Given the description of an element on the screen output the (x, y) to click on. 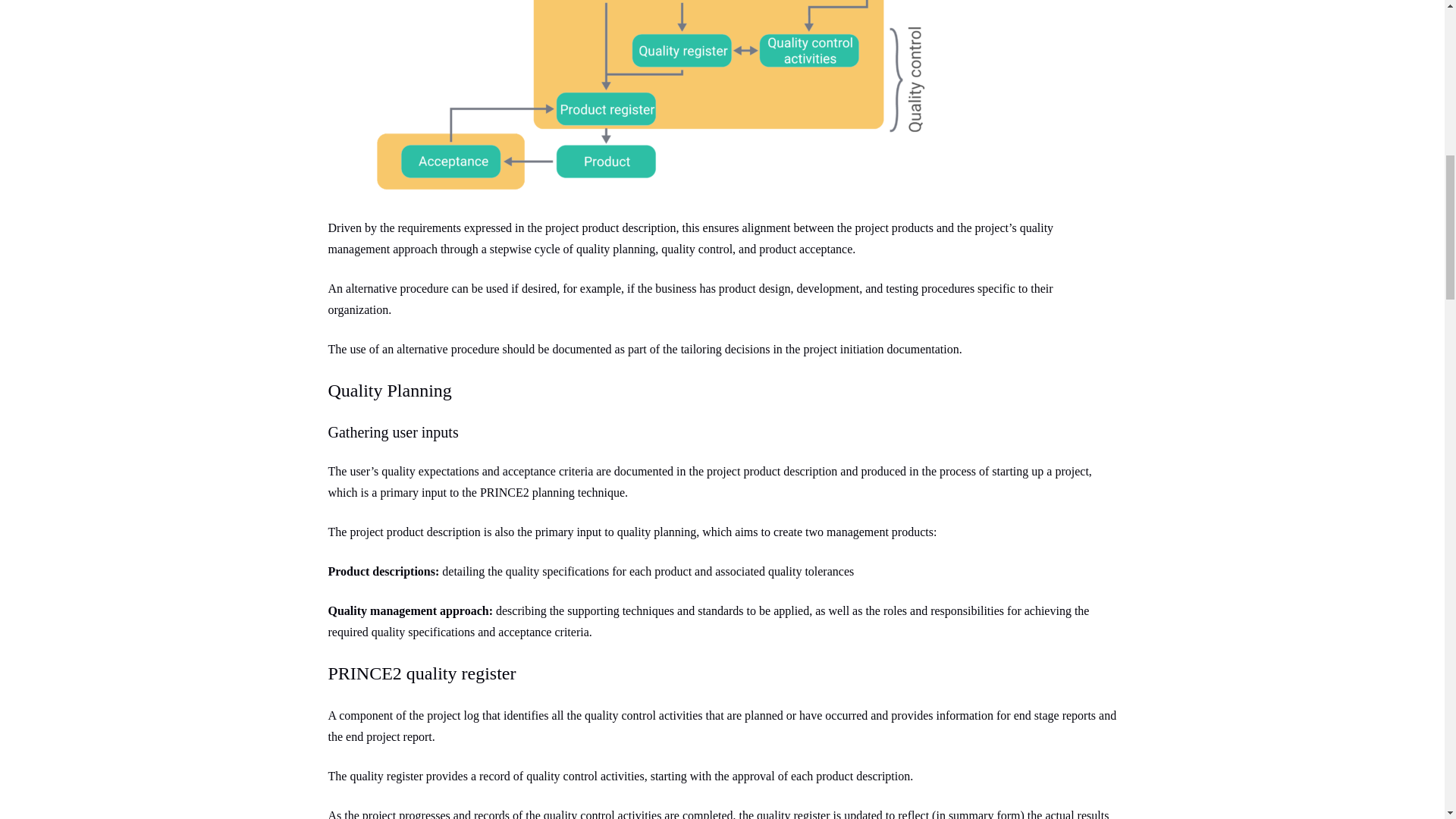
Prince2 Techniques For Quality Management (630, 102)
